Given the description of an element on the screen output the (x, y) to click on. 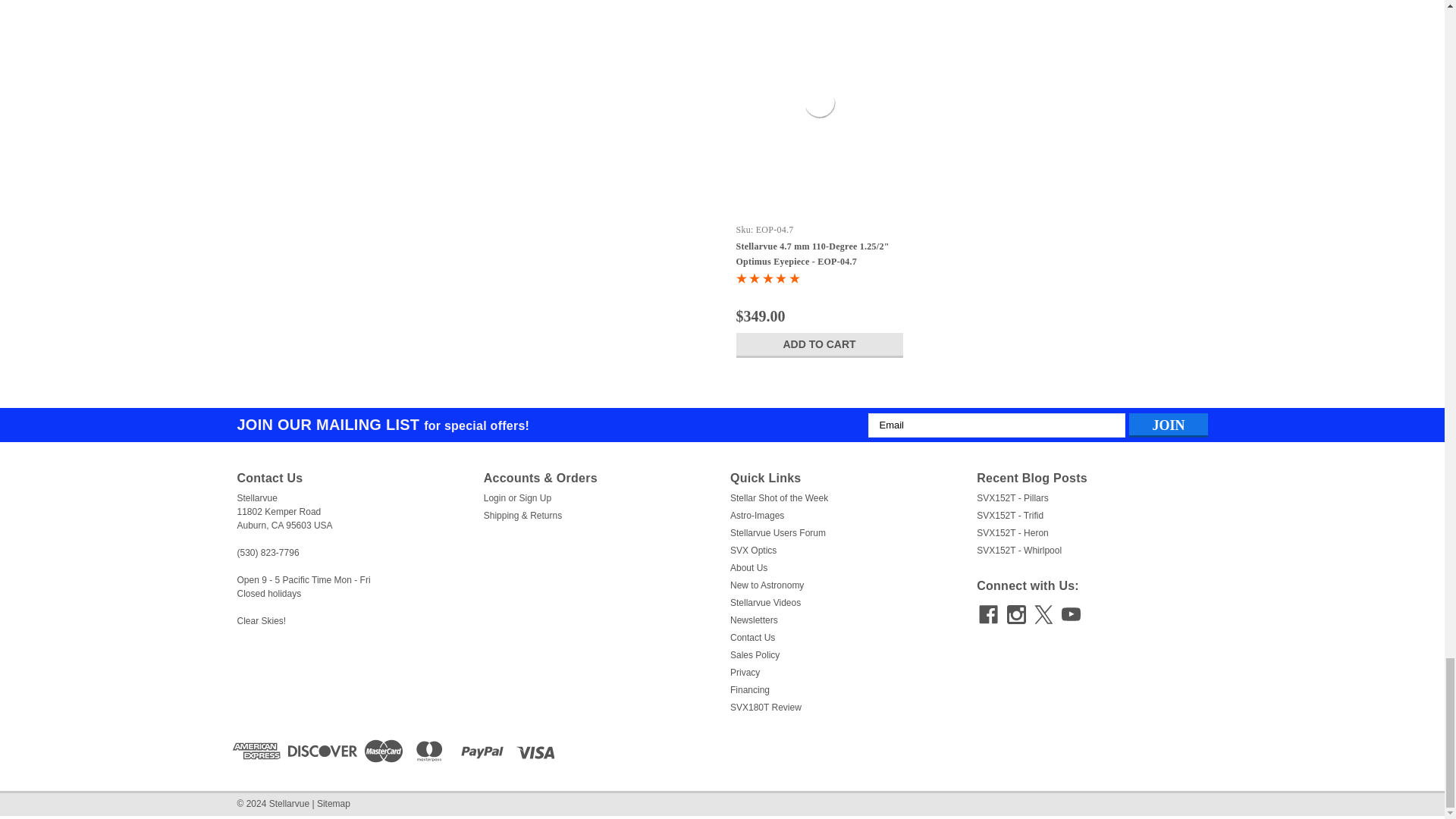
Join (1168, 425)
